Given the description of an element on the screen output the (x, y) to click on. 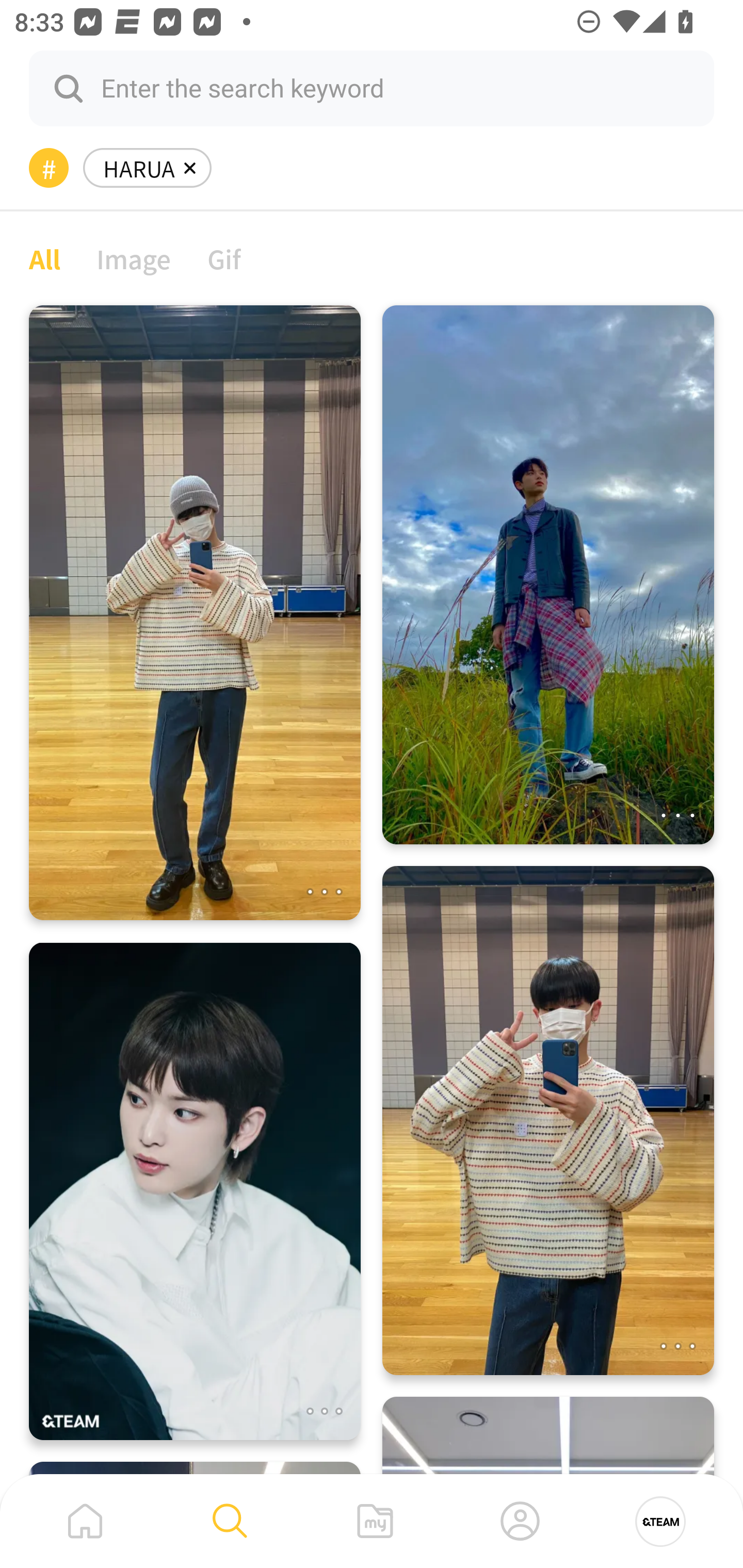
All (44, 257)
Image (133, 257)
Gif (223, 257)
